Given the description of an element on the screen output the (x, y) to click on. 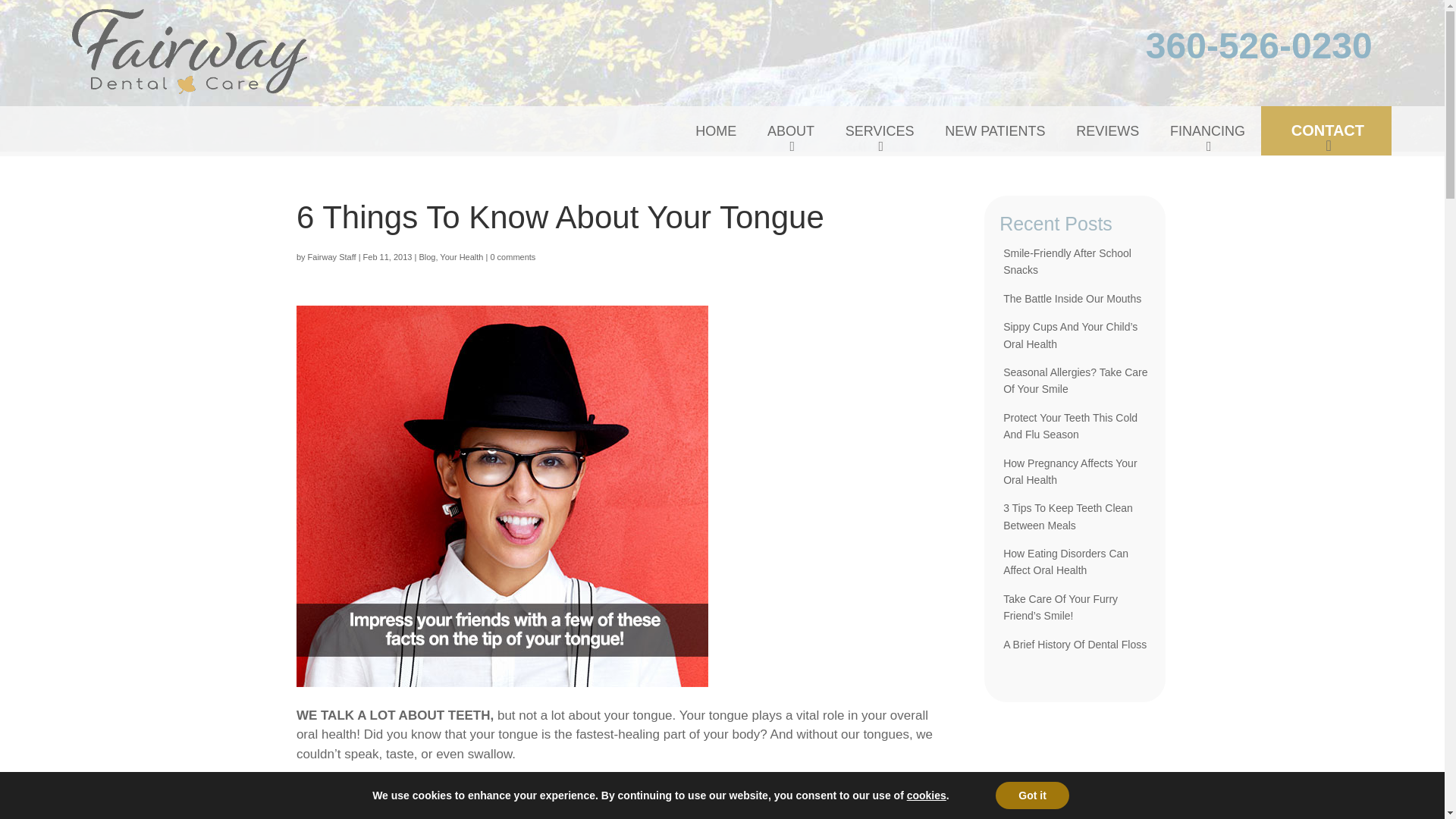
Your Health (461, 256)
3 Tips To Keep Teeth Clean Between Meals (1067, 516)
SERVICES (879, 131)
360-526-0230 (1259, 53)
ABOUT (790, 131)
HOME (715, 131)
NEW PATIENTS (994, 131)
Posts by Fairway Staff (331, 256)
How Pregnancy Affects Your Oral Health (1070, 471)
The Battle Inside Our Mouths (1072, 298)
Seasonal Allergies? Take Care Of Your Smile (1075, 380)
REVIEWS (1107, 131)
Fairway Staff (331, 256)
Smile-Friendly After School Snacks (1067, 261)
How Eating Disorders Can Affect Oral Health (1065, 561)
